Given the description of an element on the screen output the (x, y) to click on. 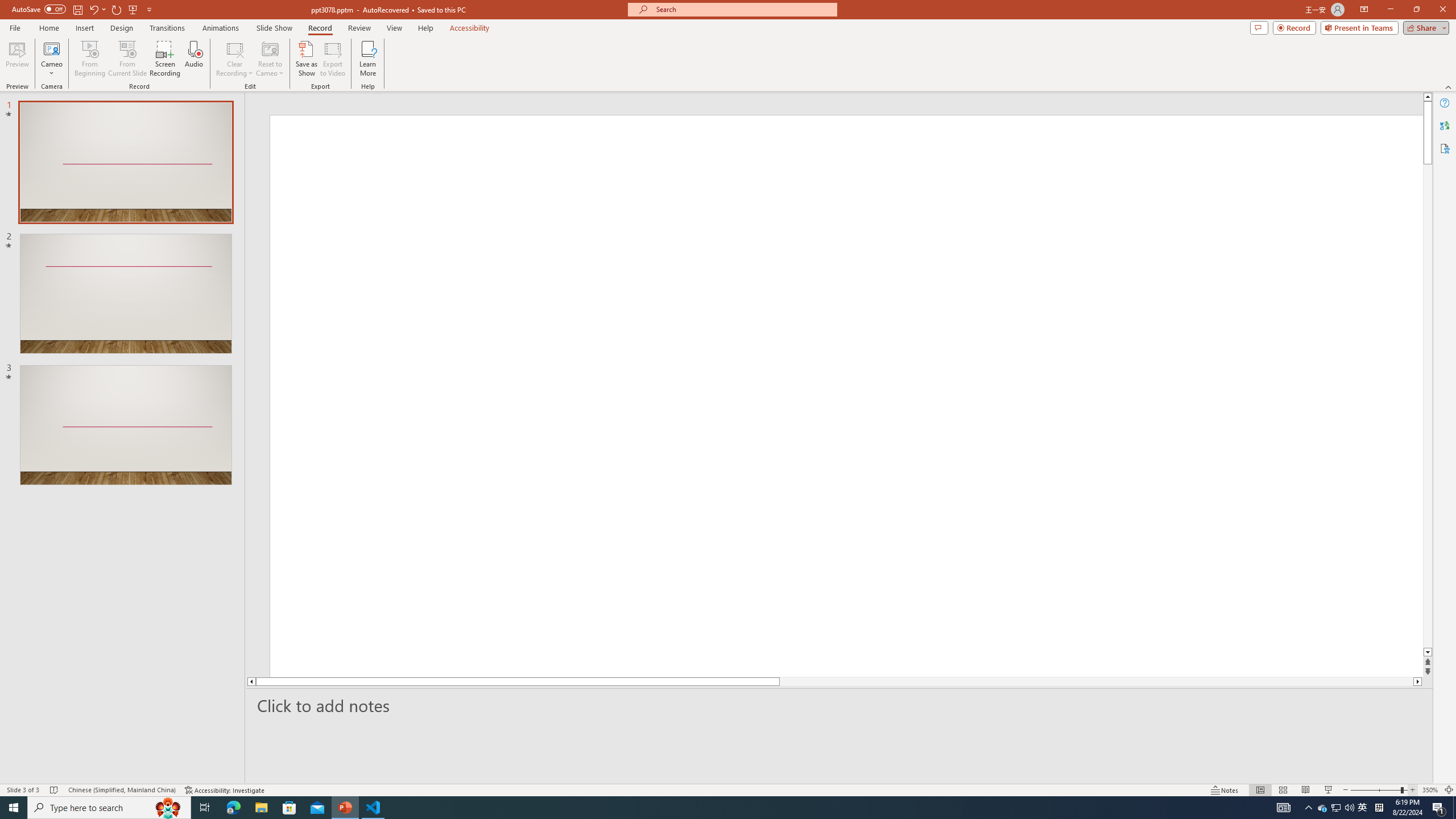
Slide Notes (839, 705)
From Beginning... (89, 58)
Clear Recording (234, 58)
